Given the description of an element on the screen output the (x, y) to click on. 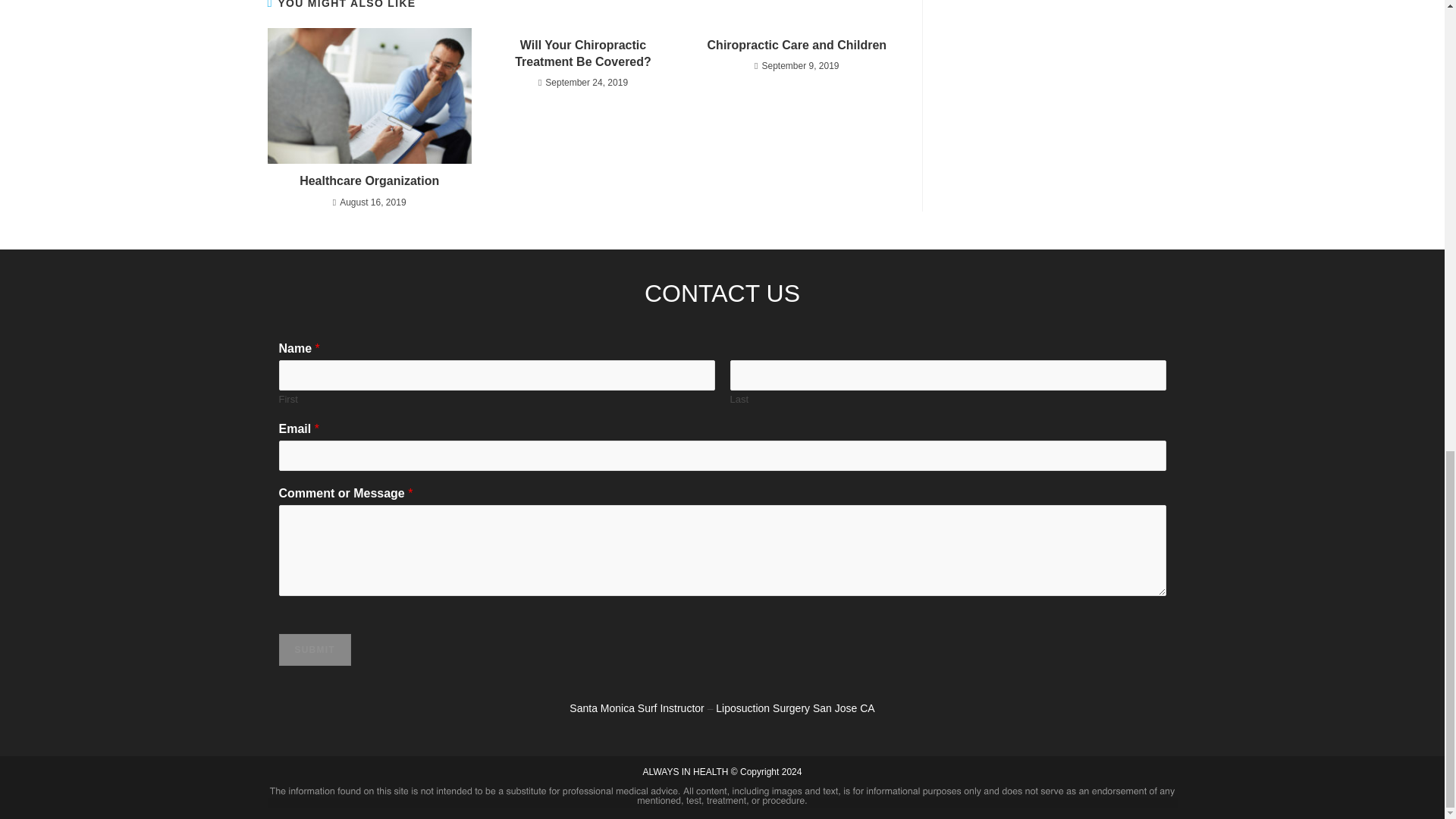
Liposuction Surgery San Jose CA (795, 707)
Santa Monica Surf Instructor (636, 707)
Healthcare Organization (368, 180)
Will Your Chiropractic Treatment Be Covered? (582, 53)
SUBMIT (314, 649)
Chiropractic Care and Children (796, 45)
